Given the description of an element on the screen output the (x, y) to click on. 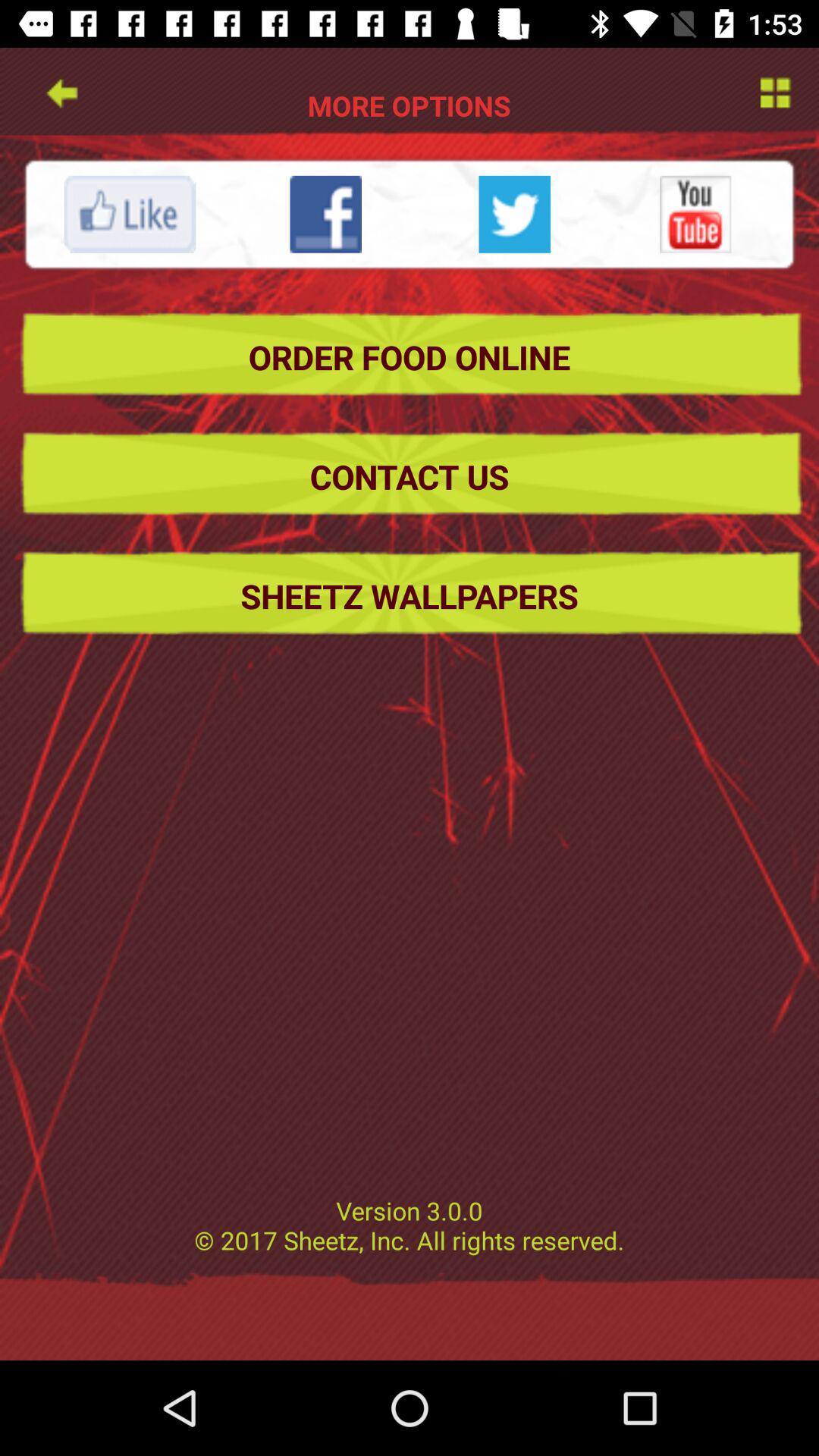
more (774, 91)
